Given the description of an element on the screen output the (x, y) to click on. 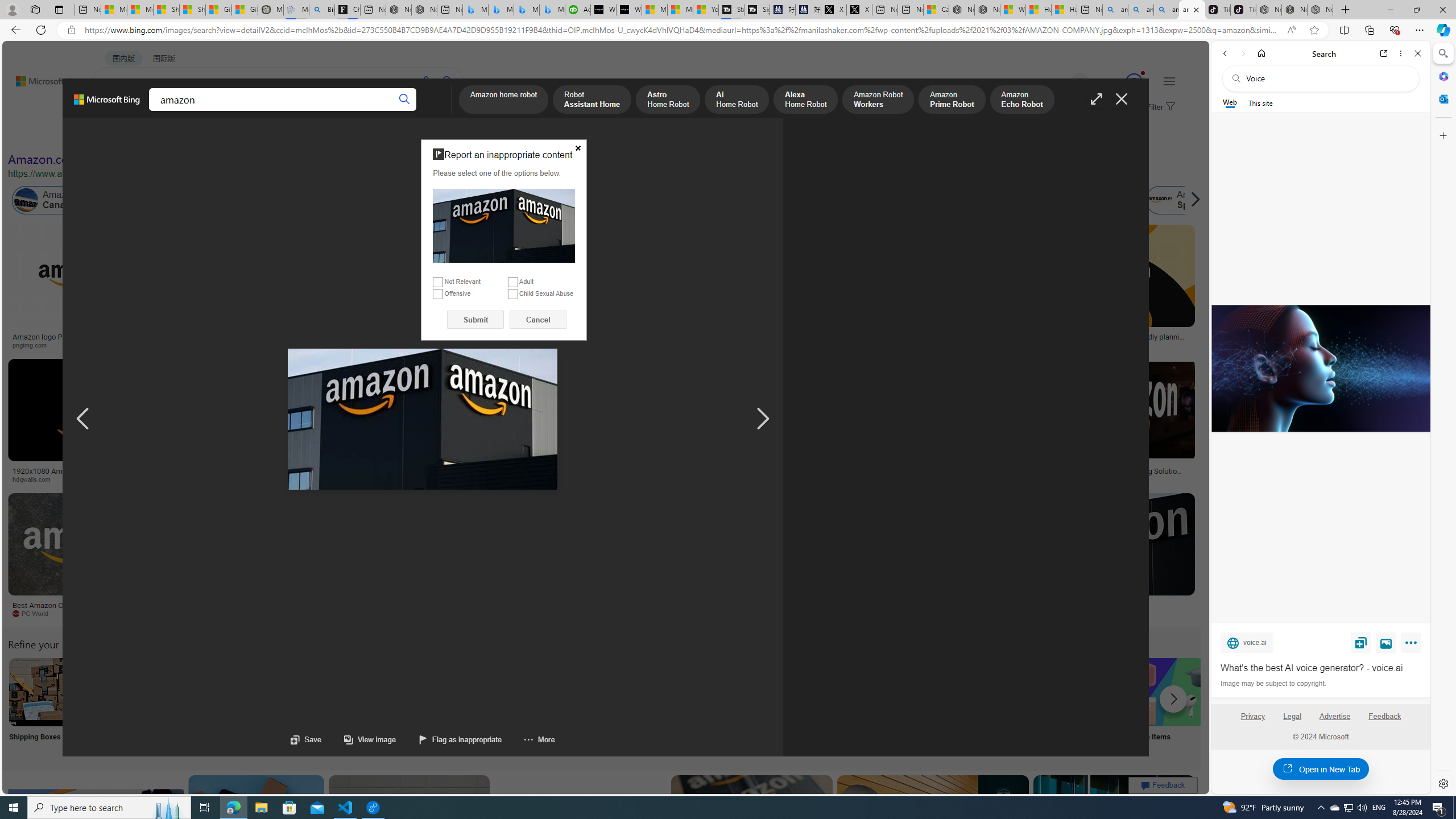
Kindle Paperwhite Case (673, 298)
Search using voice (426, 80)
Marketplace (459, 479)
Online Shopping Homepage (868, 706)
downdetector.ae (869, 344)
Chloe Sorvino (347, 9)
Class: medal-circled (1133, 81)
hdqwalls.com (96, 479)
Amazon Kids (239, 200)
Amazon Wish List (568, 691)
Amazon Canada Online (65, 199)
Package Delivery (418, 706)
